Given the description of an element on the screen output the (x, y) to click on. 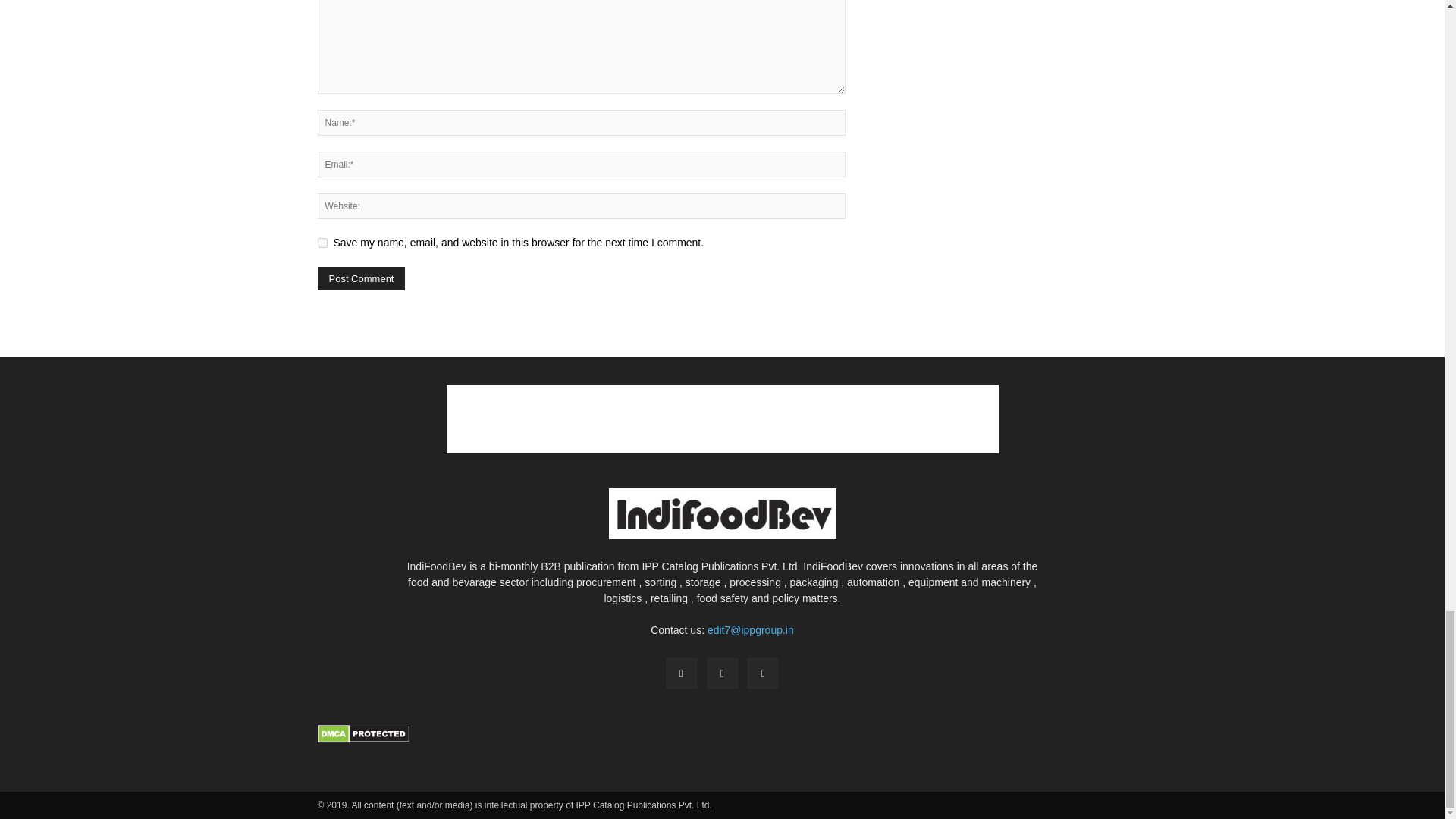
yes (321, 243)
Post Comment (360, 278)
